Given the description of an element on the screen output the (x, y) to click on. 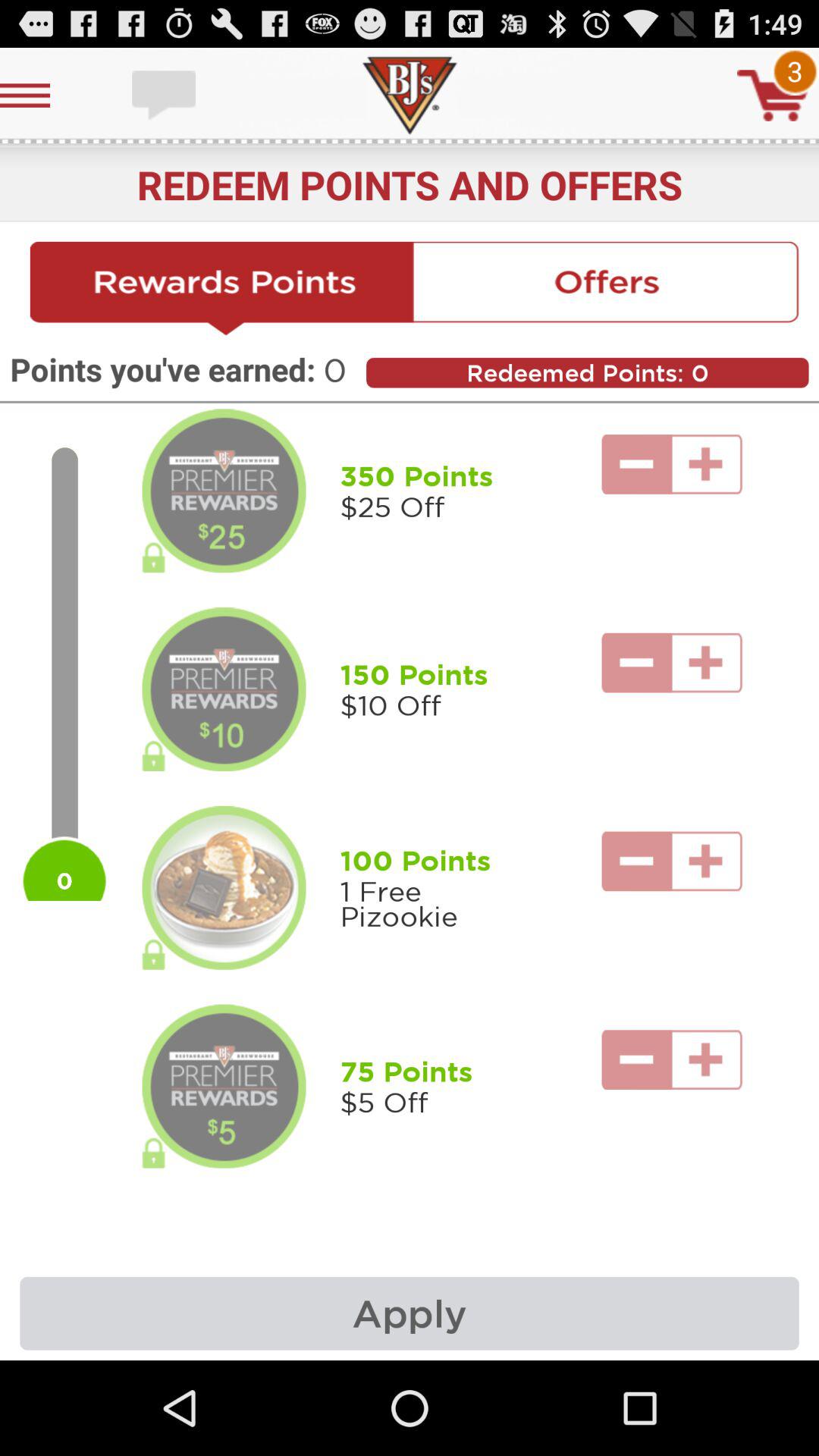
redeem reward (223, 888)
